Given the description of an element on the screen output the (x, y) to click on. 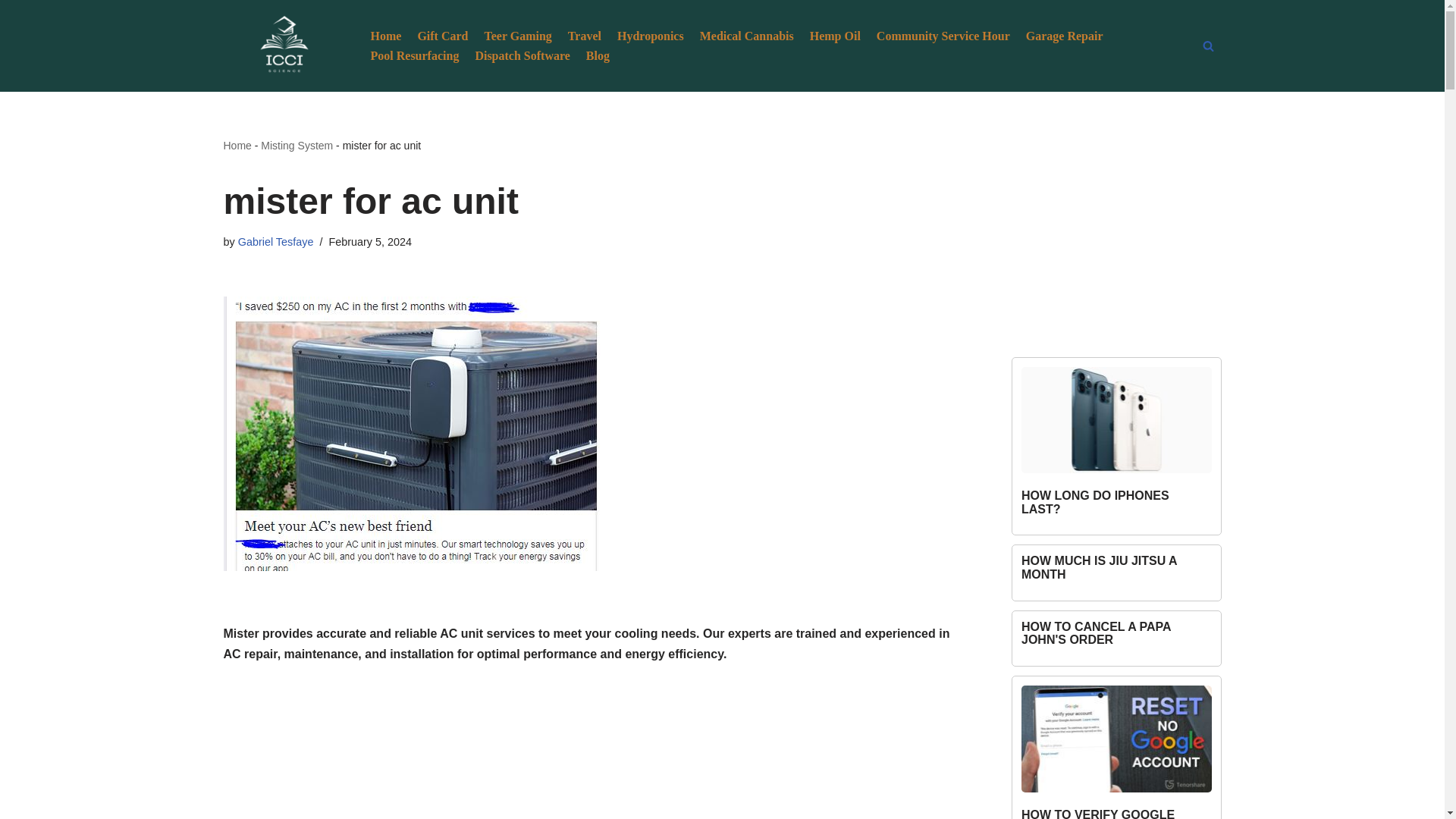
Hydroponics (650, 35)
Pool Resurfacing (413, 55)
Blog (598, 55)
Misting System (296, 145)
Teer Gaming (517, 35)
Gabriel Tesfaye (276, 241)
Dispatch Software (521, 55)
Posts by Gabriel Tesfaye (276, 241)
Home (236, 145)
Travel (584, 35)
Skip to content (11, 31)
Community Service Hour (943, 35)
Medical Cannabis (746, 35)
Home (385, 35)
Gift Card (441, 35)
